Given the description of an element on the screen output the (x, y) to click on. 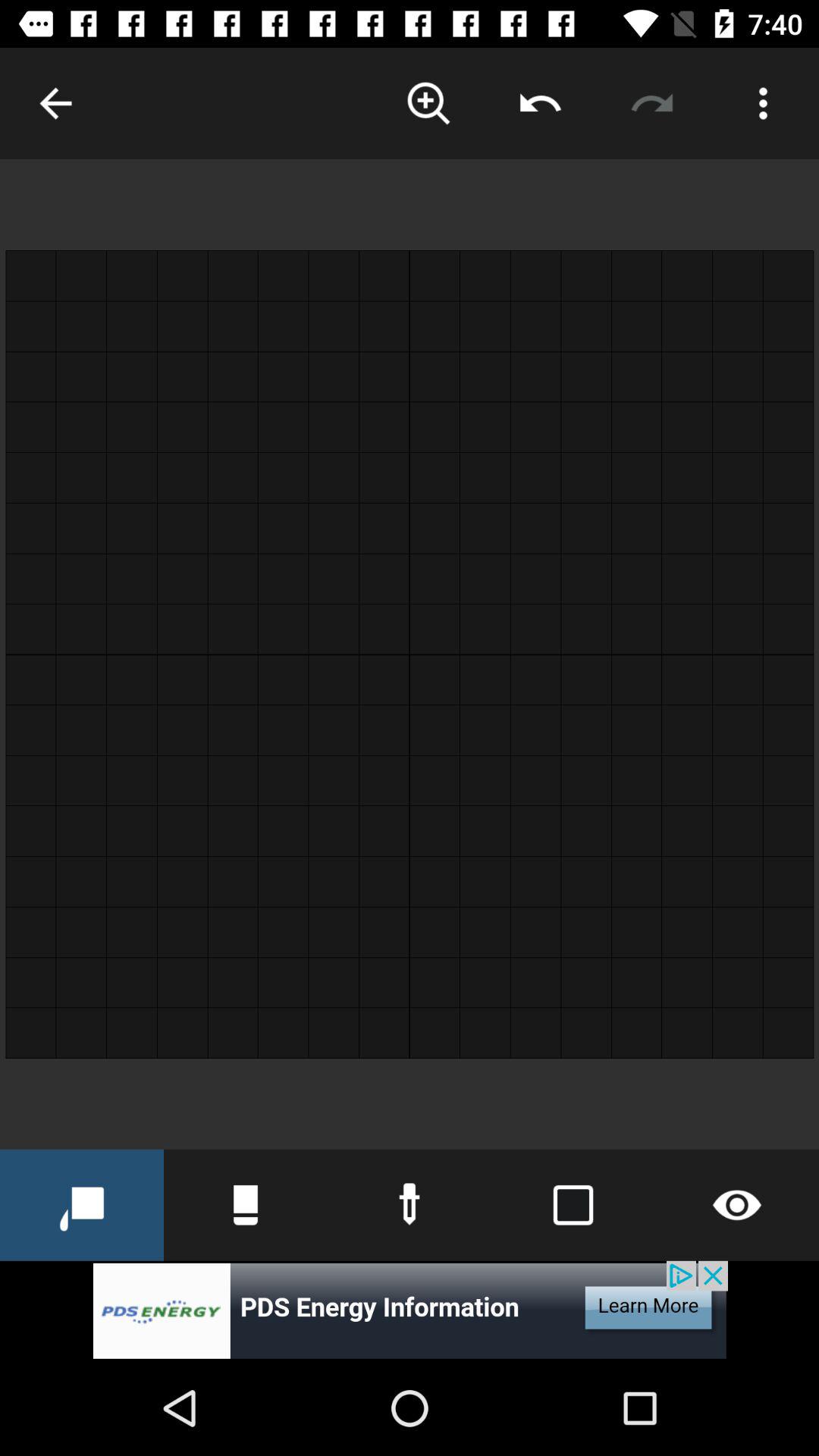
rotate image (651, 103)
